Given the description of an element on the screen output the (x, y) to click on. 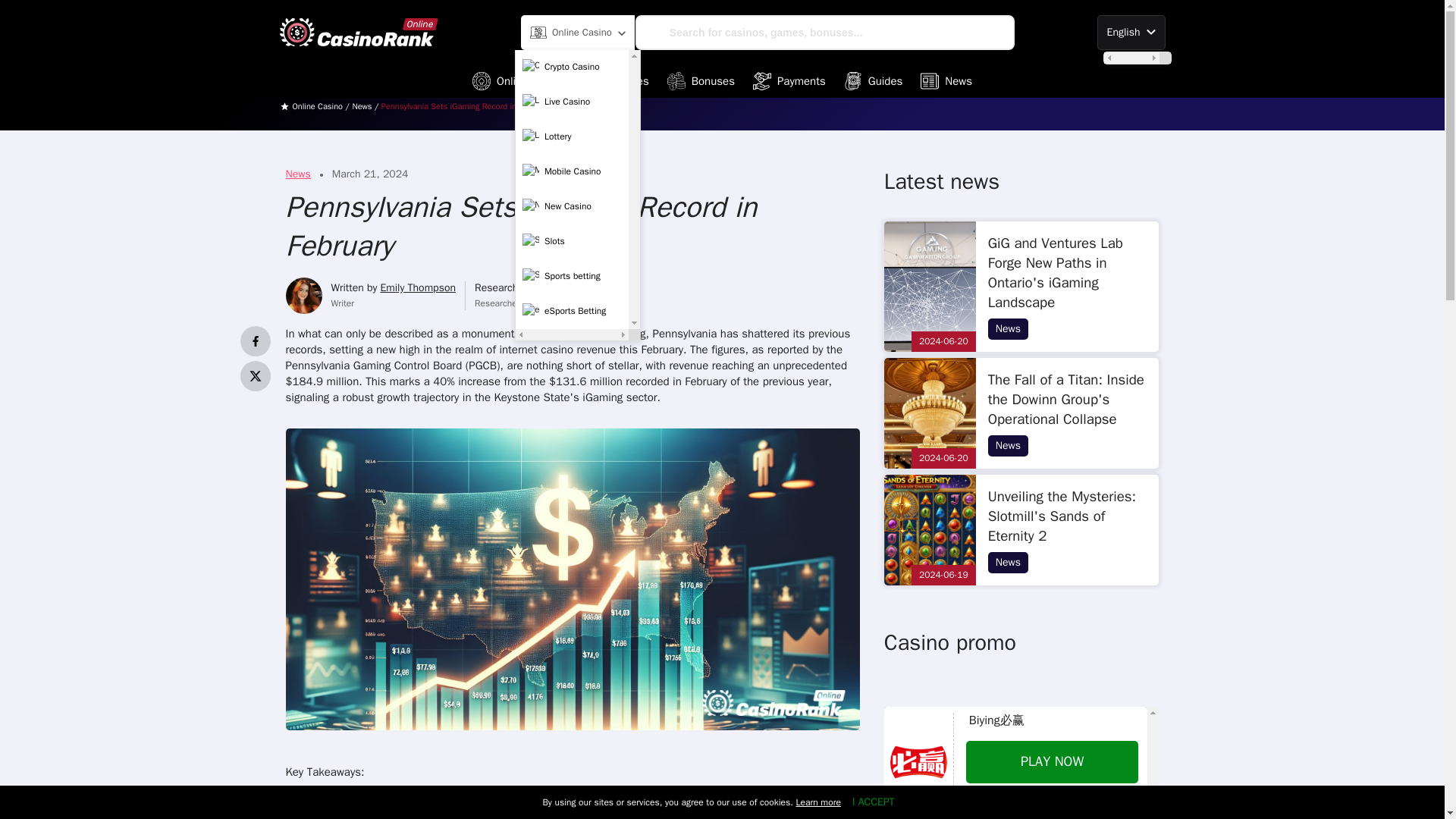
Lottery (572, 136)
Bonuses (700, 80)
Online Casinos (521, 80)
Mobile Casino (572, 172)
eSports Betting (572, 311)
Sports betting (572, 276)
New Casino (572, 206)
Slots (572, 241)
Games (619, 80)
Live Casino (572, 102)
Crypto Casino (572, 67)
